Given the description of an element on the screen output the (x, y) to click on. 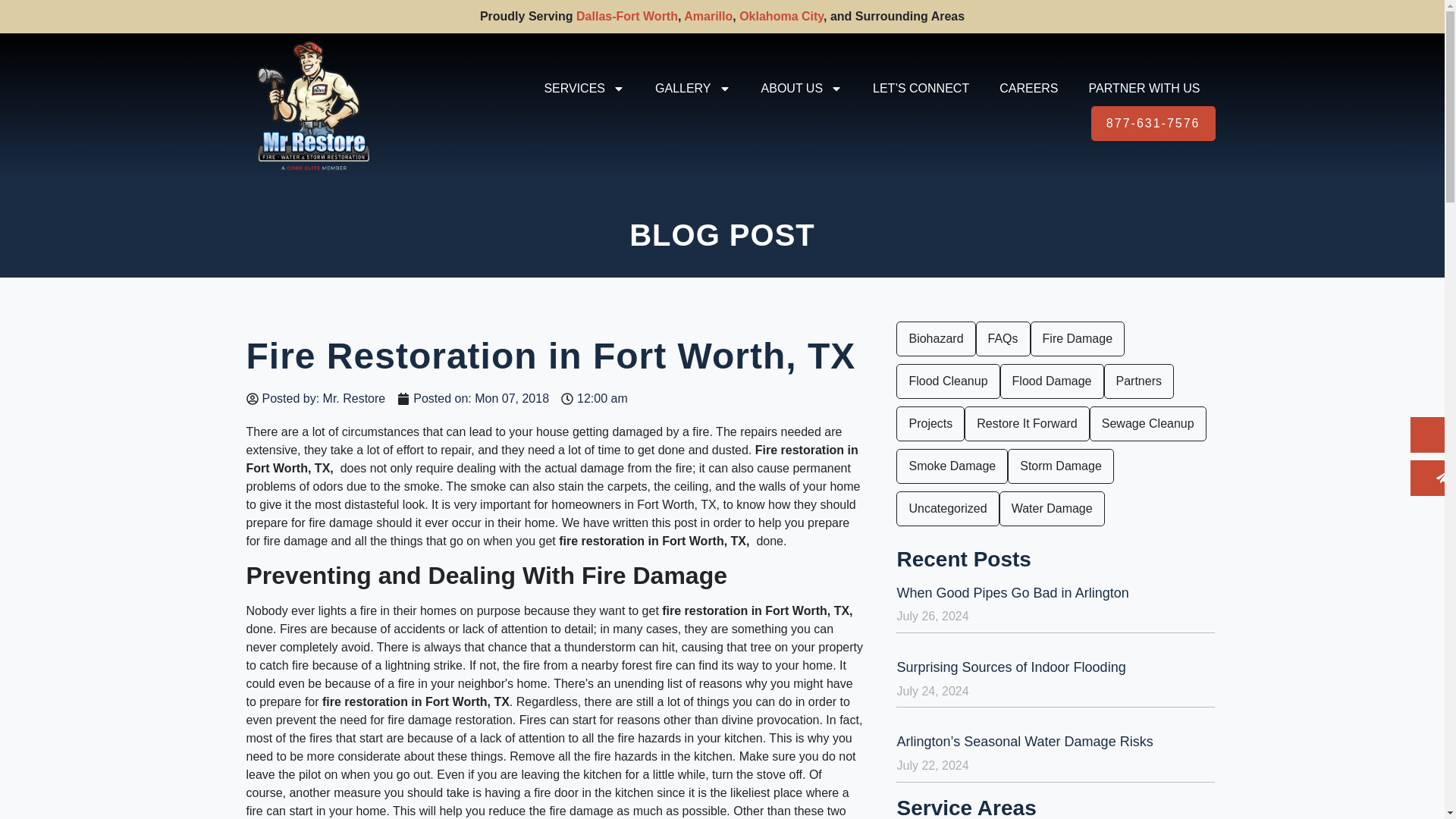
View Our Dallas-Fort Worth Location (627, 15)
GALLERY (692, 88)
View Our Amarillo Location (708, 15)
Dallas-Fort Worth (627, 15)
Amarillo (708, 15)
SERVICES (584, 88)
View Our Oklahoma City Location (781, 15)
Oklahoma City (781, 15)
